Given the description of an element on the screen output the (x, y) to click on. 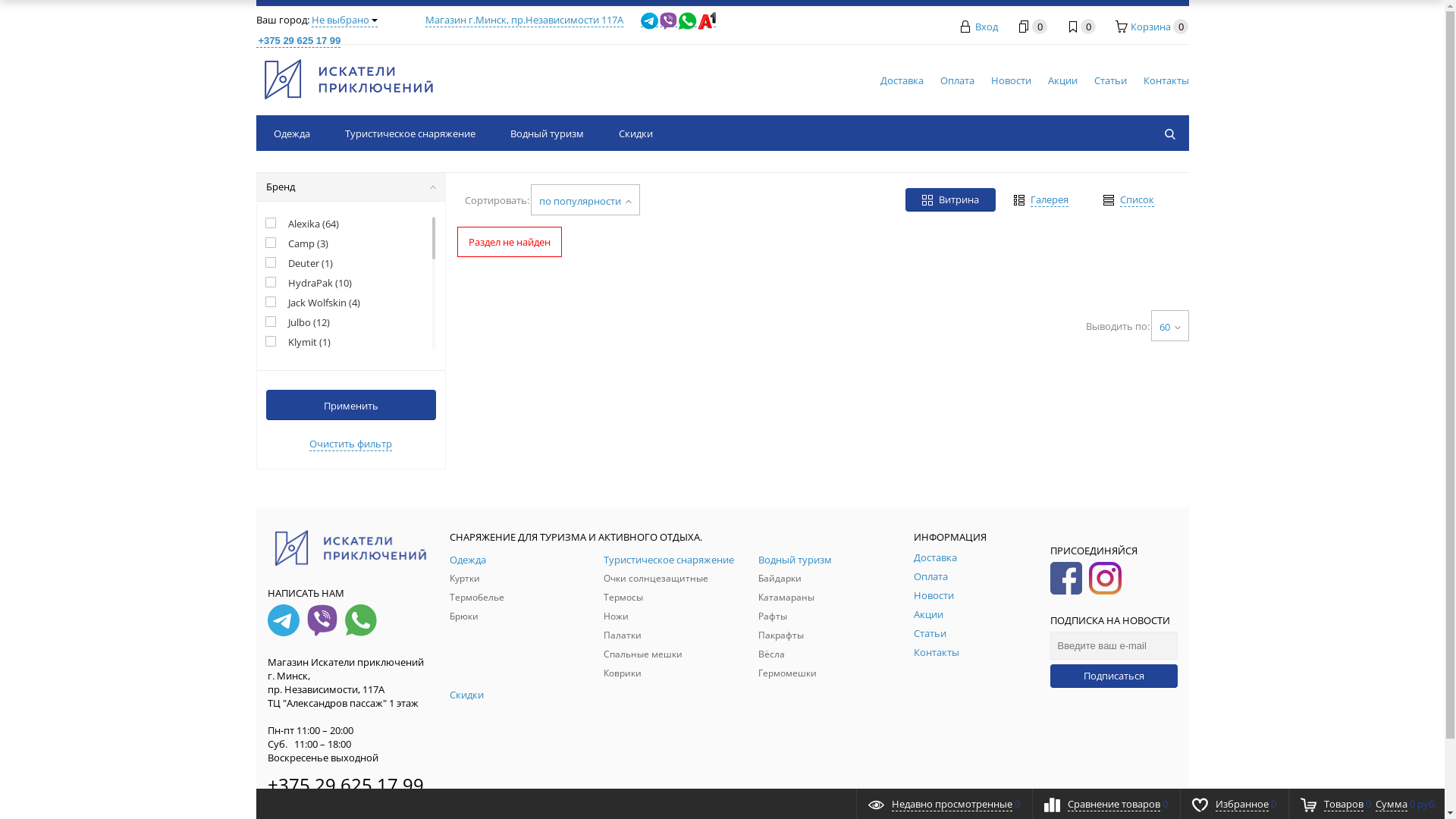
HydraPak (10) Element type: text (308, 282)
Camp (3) Element type: text (296, 243)
60 Element type: text (1170, 325)
Montbell (25) Element type: text (306, 361)
+375 29 625 17 99 Element type: text (344, 784)
Deuter (1) Element type: text (298, 262)
Singing Rock (2) Element type: text (311, 440)
Thermos (67) Element type: text (306, 538)
0 Element type: text (1079, 26)
RST (3) Element type: text (291, 400)
Alexika (64) Element type: text (301, 223)
Sivera (10) Element type: text (299, 460)
0 Element type: text (1031, 26)
Stanley (57) Element type: text (302, 479)
Klymit (1) Element type: text (297, 341)
Victorinox (2) Element type: text (306, 558)
 +375 29 625 17 99 Element type: text (485, 29)
Julbo (12) Element type: text (297, 321)
Jack Wolfskin (4) Element type: text (312, 302)
Therm-a-Rest (1) Element type: text (313, 519)
Sea to summit (1) Element type: text (316, 420)
+375 17 360 99 99 Element type: text (344, 800)
Tatonka (59) Element type: text (304, 499)
Ocun (1) Element type: text (295, 381)
Wildo (3) Element type: text (296, 578)
